Given the description of an element on the screen output the (x, y) to click on. 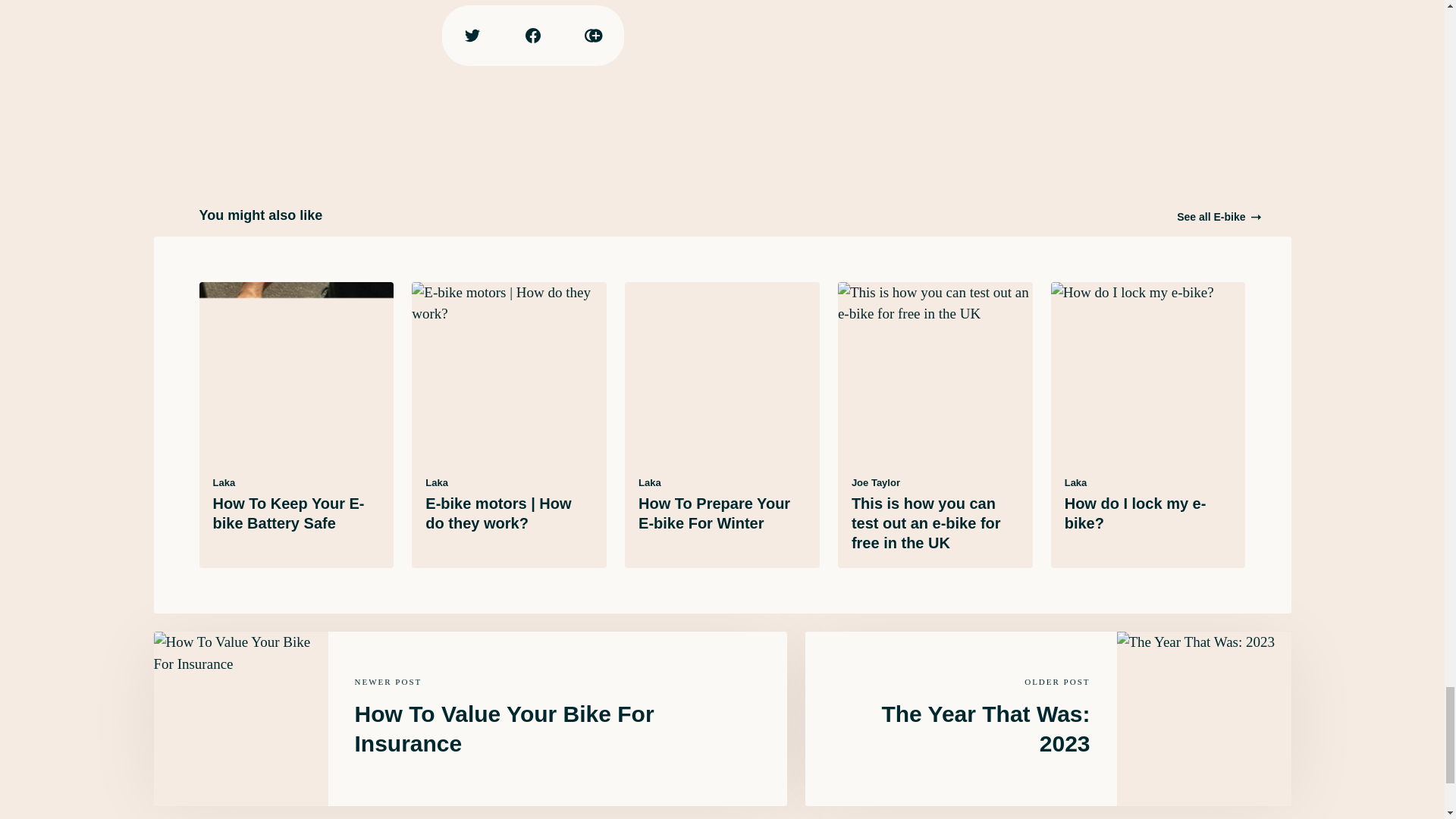
This is how you can test out an e-bike for free in the UK (926, 523)
The Year That Was: 2023 (984, 728)
How do I lock my e-bike? (1135, 513)
How To Prepare Your E-bike For Winter (714, 513)
Joe Taylor (875, 482)
Laka (436, 482)
See all E-bike (1218, 217)
Laka (650, 482)
Laka (223, 482)
Laka (1075, 482)
How To Keep Your E-bike Battery Safe (288, 513)
How To Value Your Bike For Insurance (504, 728)
